Given the description of an element on the screen output the (x, y) to click on. 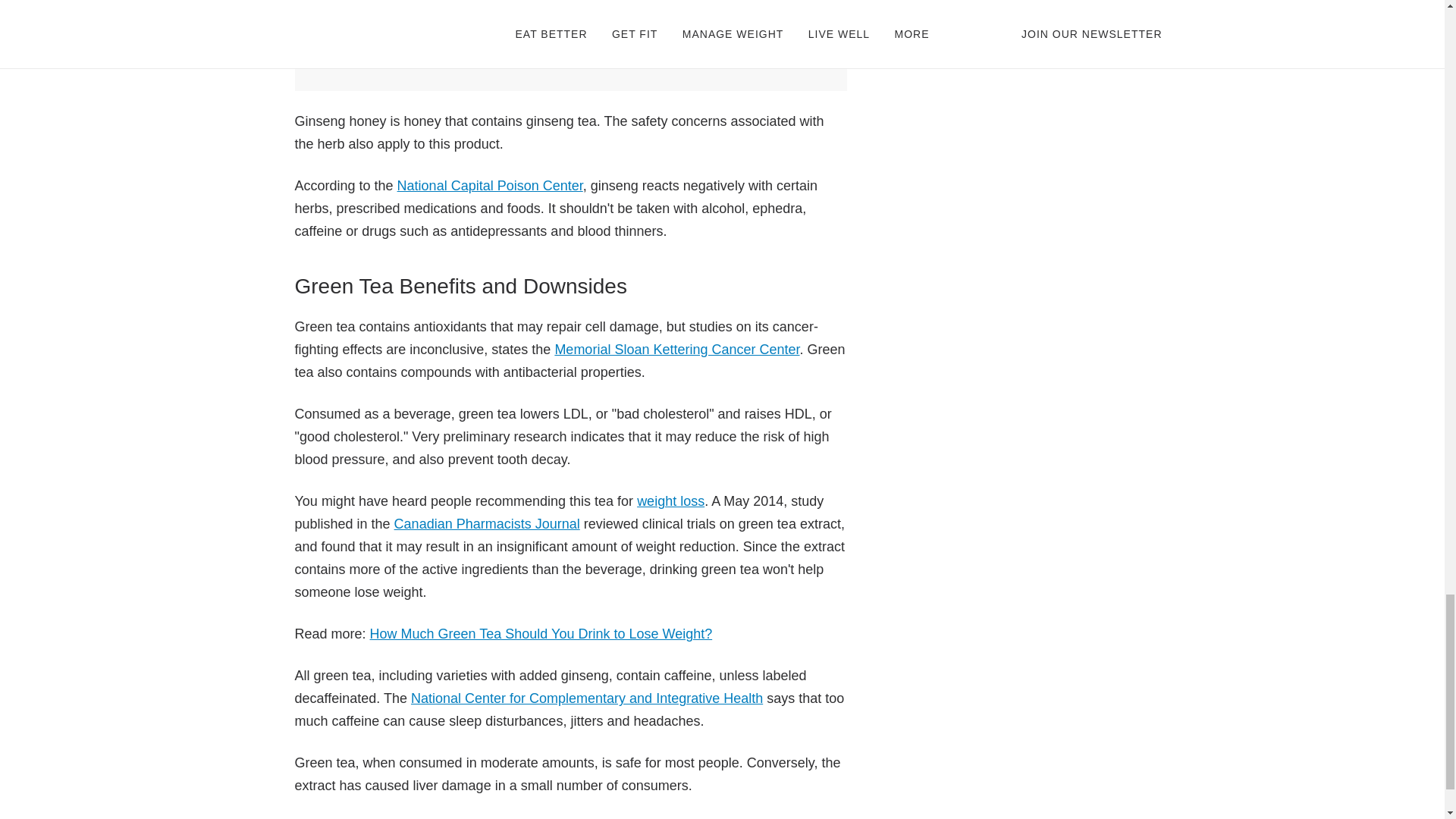
National Capital Poison Center (490, 185)
Memorial Sloan Kettering Cancer Center (676, 349)
weight loss (670, 500)
